Given the description of an element on the screen output the (x, y) to click on. 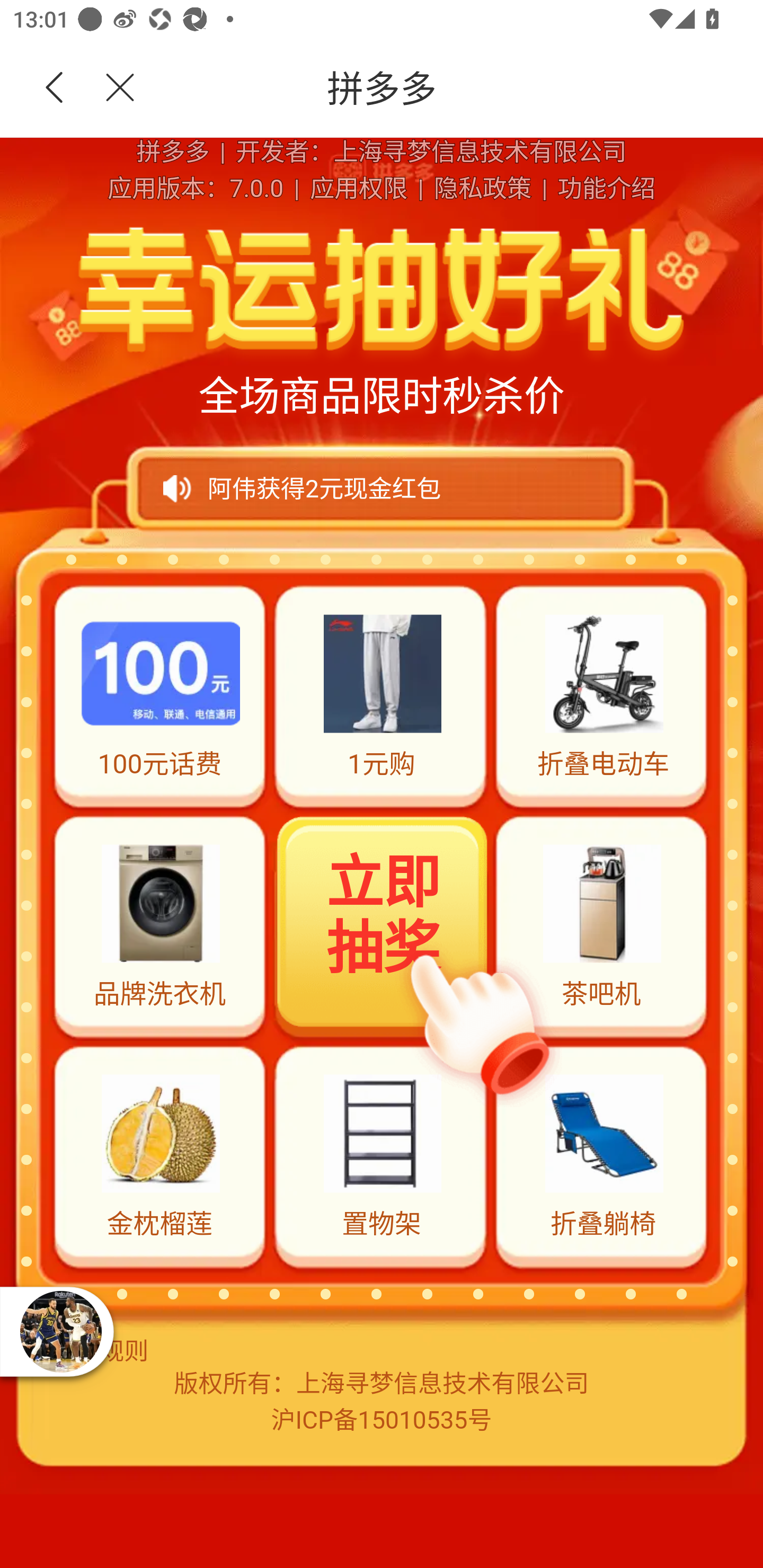
 (109, 87)
拼多多 (451, 87)
 返回 (54, 87)
立即抽奖 (382, 924)
播放器 (60, 1331)
